Given the description of an element on the screen output the (x, y) to click on. 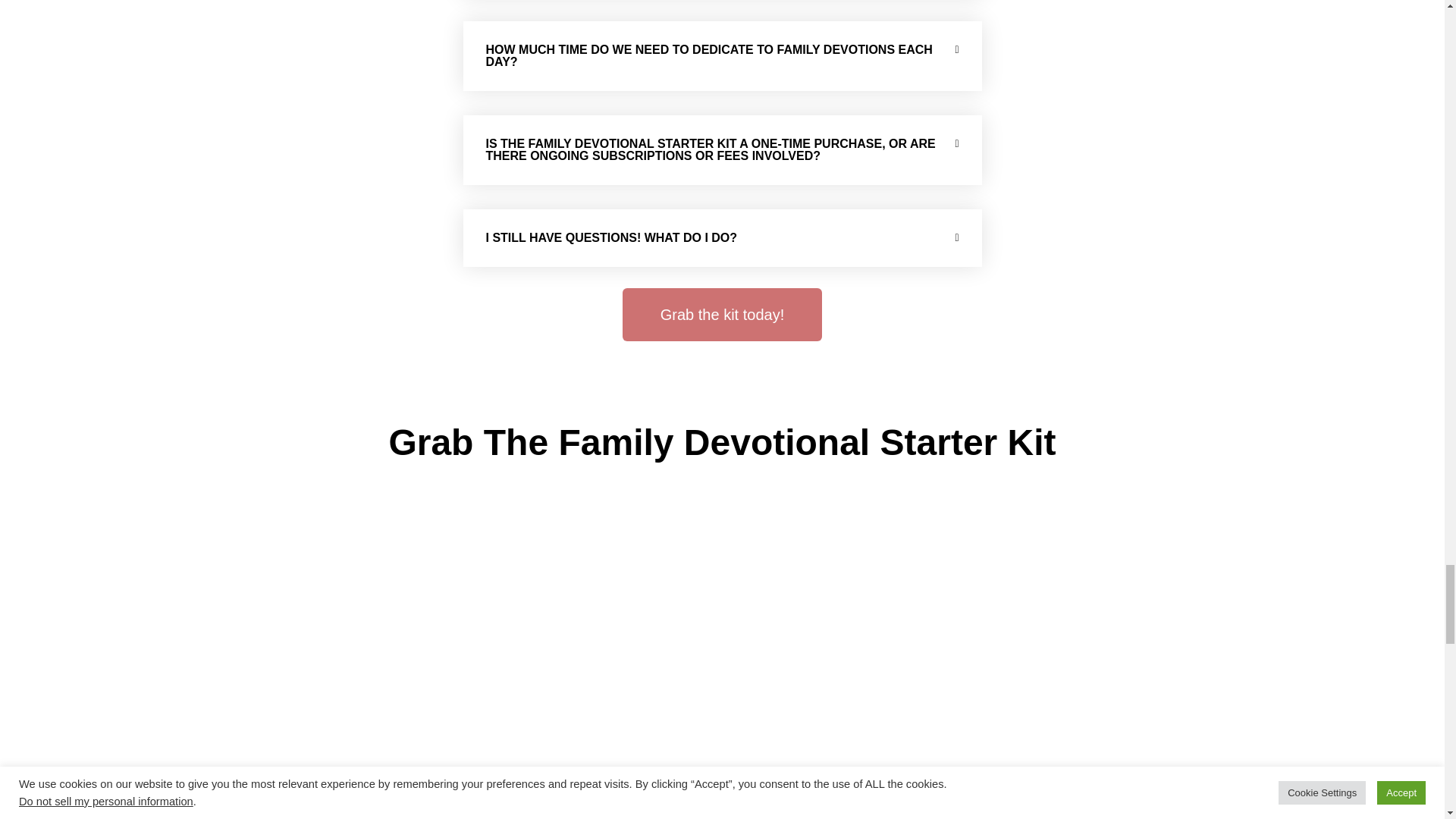
I STILL HAVE QUESTIONS! WHAT DO I DO? (610, 237)
Grab the kit today! (722, 314)
